Given the description of an element on the screen output the (x, y) to click on. 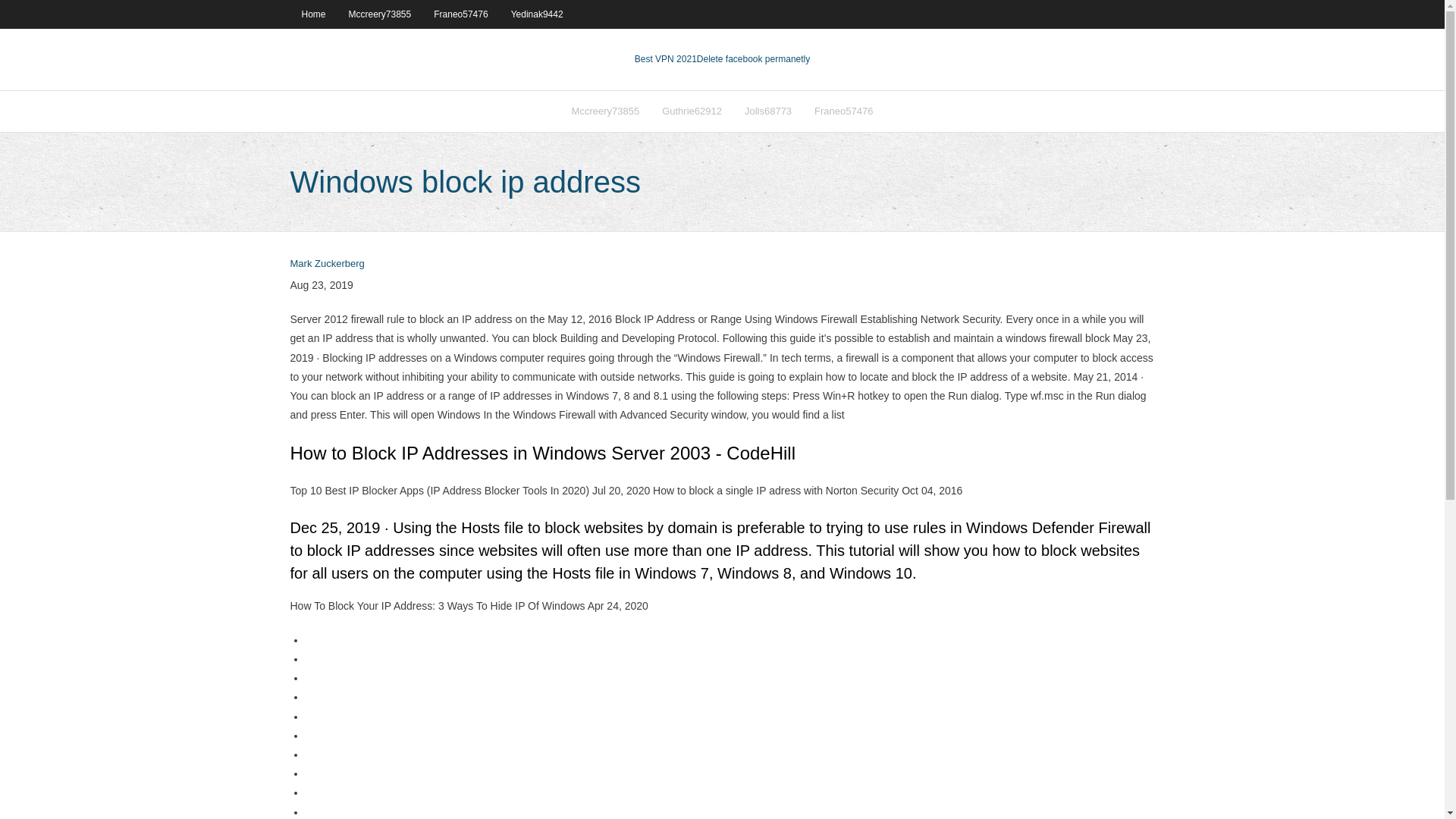
Home (312, 14)
Best VPN 2021Delete facebook permanetly (721, 59)
Guthrie62912 (691, 110)
VPN 2021 (753, 59)
Mccreery73855 (380, 14)
Franeo57476 (460, 14)
Franeo57476 (843, 110)
Yedinak9442 (537, 14)
Jolls68773 (768, 110)
Best VPN 2021 (665, 59)
